Given the description of an element on the screen output the (x, y) to click on. 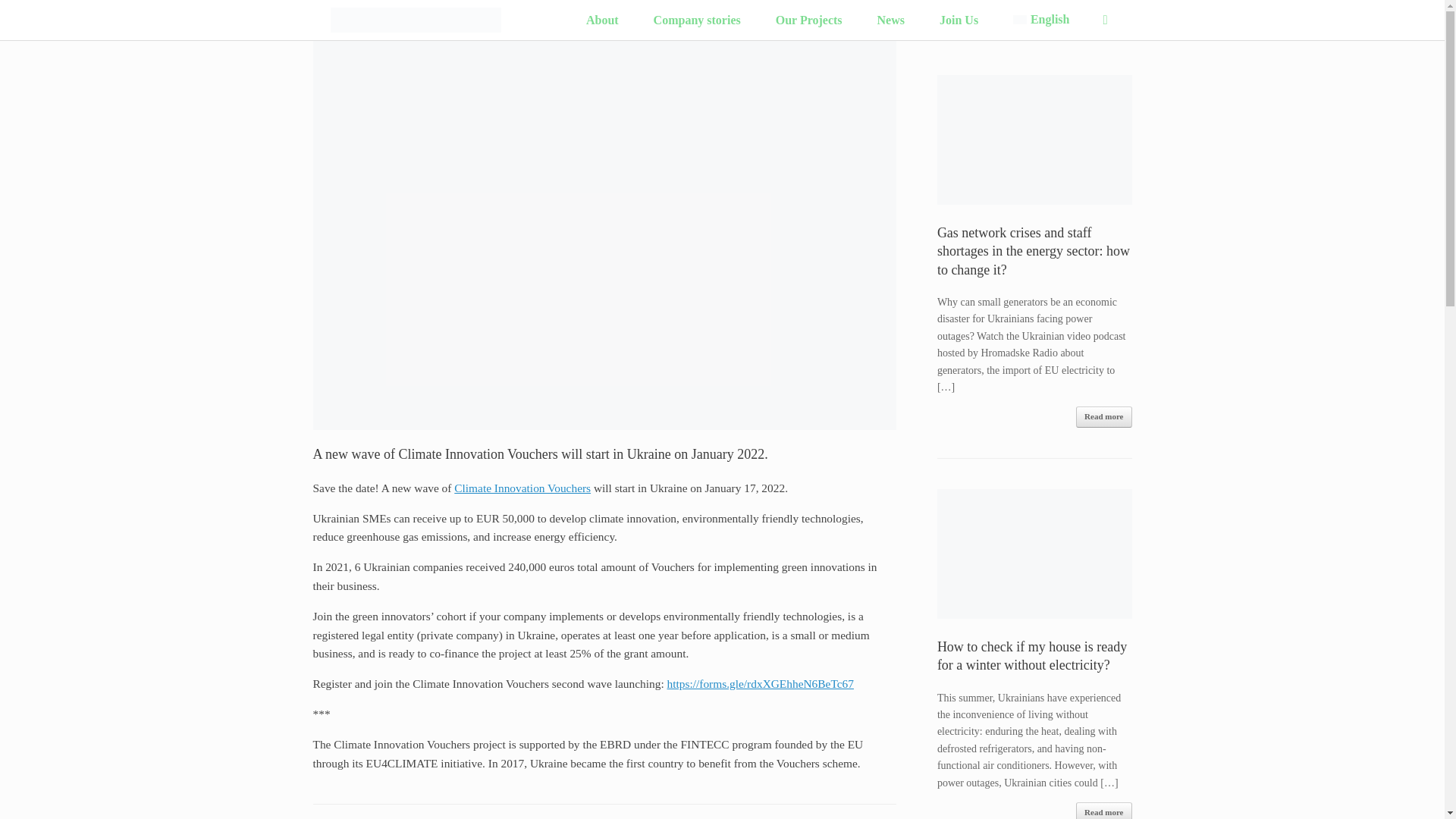
Read more (1103, 416)
English (1040, 19)
News (890, 20)
Join Us (958, 20)
Read more (1103, 810)
English (1040, 19)
Company stories (697, 20)
